Given the description of an element on the screen output the (x, y) to click on. 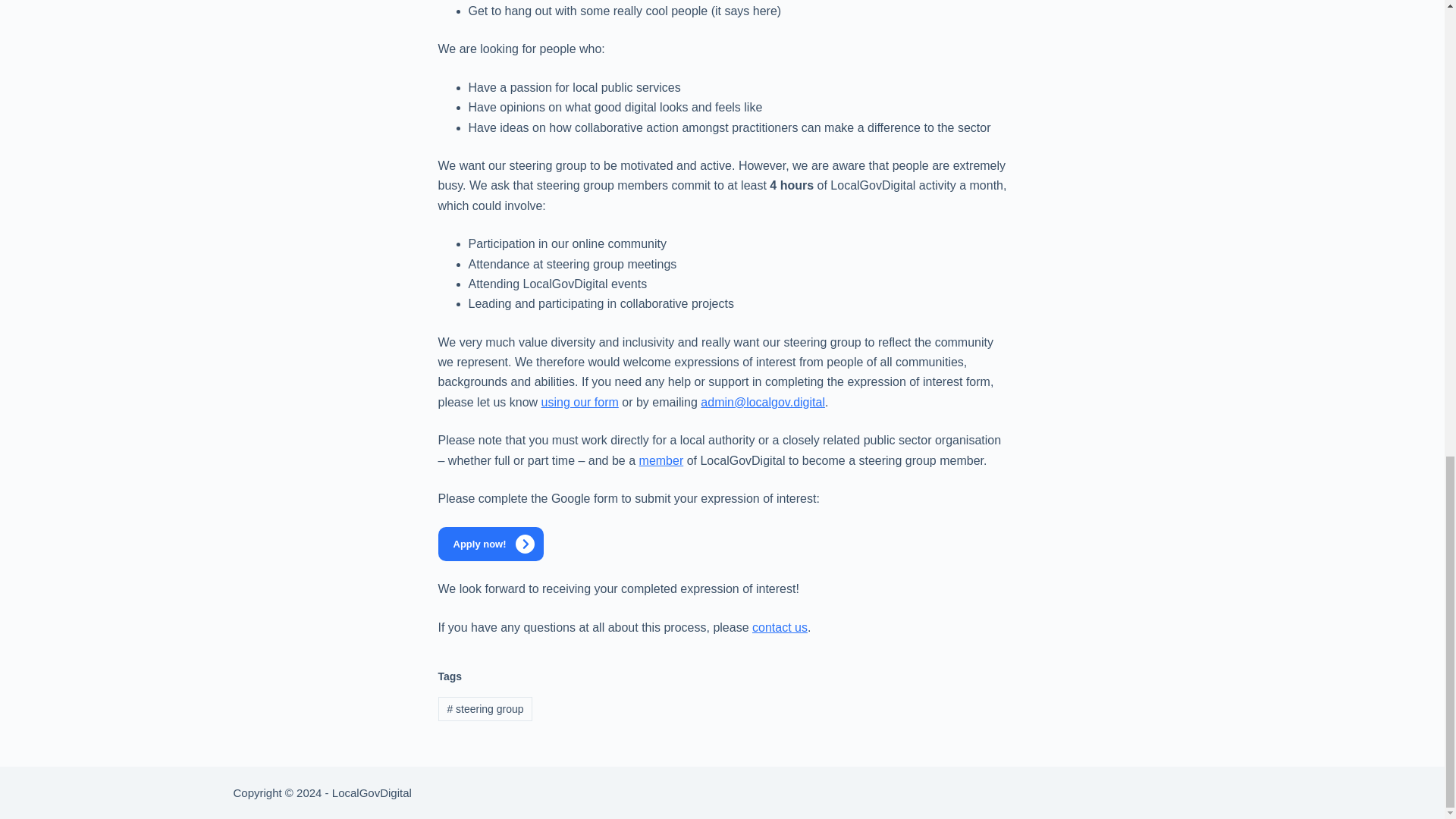
using our form (579, 401)
member (661, 460)
contact us (780, 626)
Apply now! (490, 544)
